Given the description of an element on the screen output the (x, y) to click on. 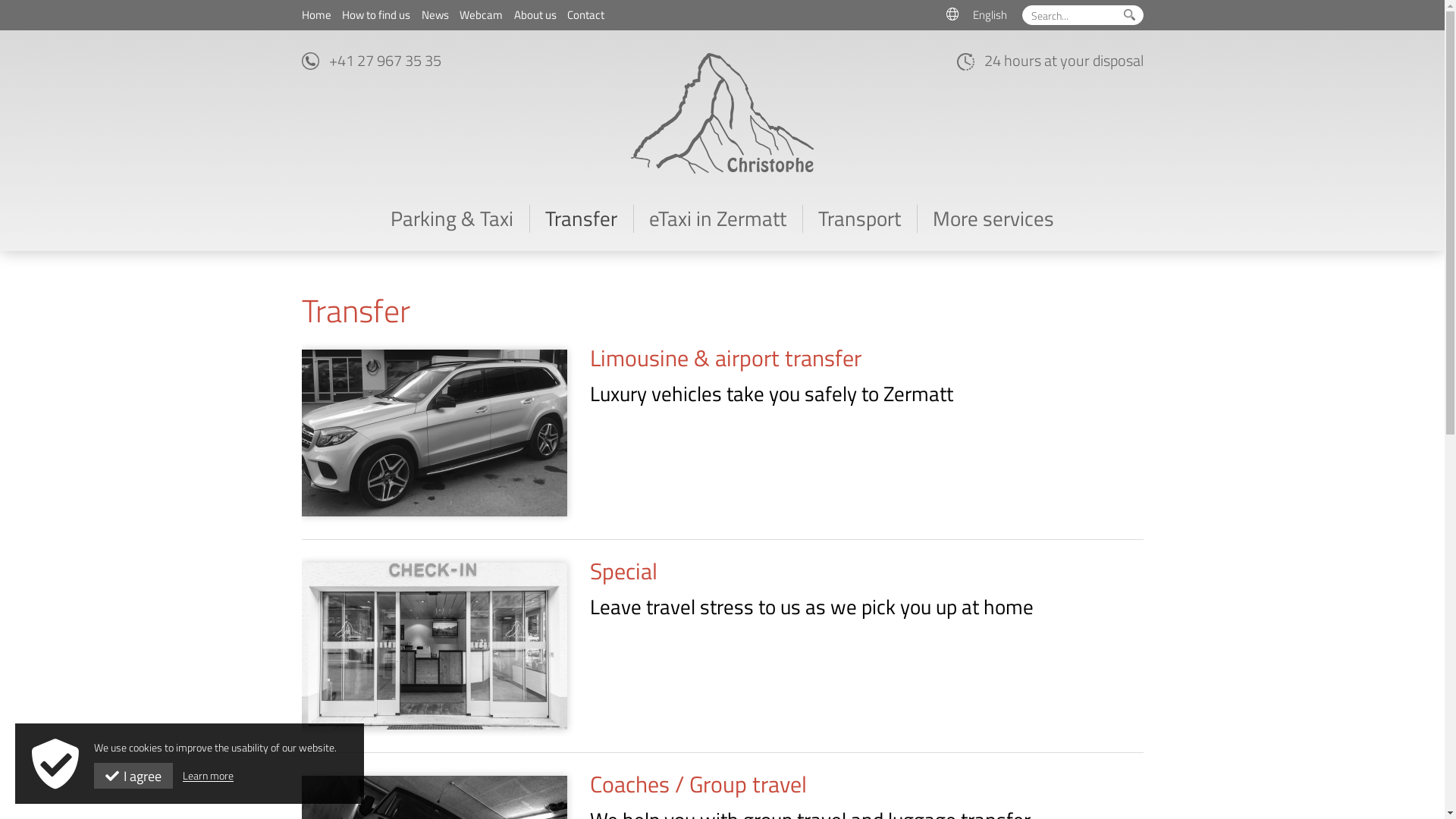
Contact Element type: text (580, 14)
More services Element type: text (993, 217)
Special Element type: text (623, 570)
About us Element type: text (529, 14)
+41 27 967 35 35 Element type: text (385, 60)
Coaches / Group travel Element type: text (697, 782)
Transport Element type: text (859, 217)
Transfer Element type: text (581, 217)
Parking & Taxi Element type: text (451, 217)
eTaxi in Zermatt Element type: text (717, 217)
News Element type: text (429, 14)
Learn more Element type: text (207, 775)
English Element type: text (976, 15)
Limousine & airport transfer Element type: text (725, 356)
Home Element type: text (316, 14)
I agree Element type: text (133, 775)
How to find us Element type: text (370, 14)
Webcam Element type: text (475, 14)
